Given the description of an element on the screen output the (x, y) to click on. 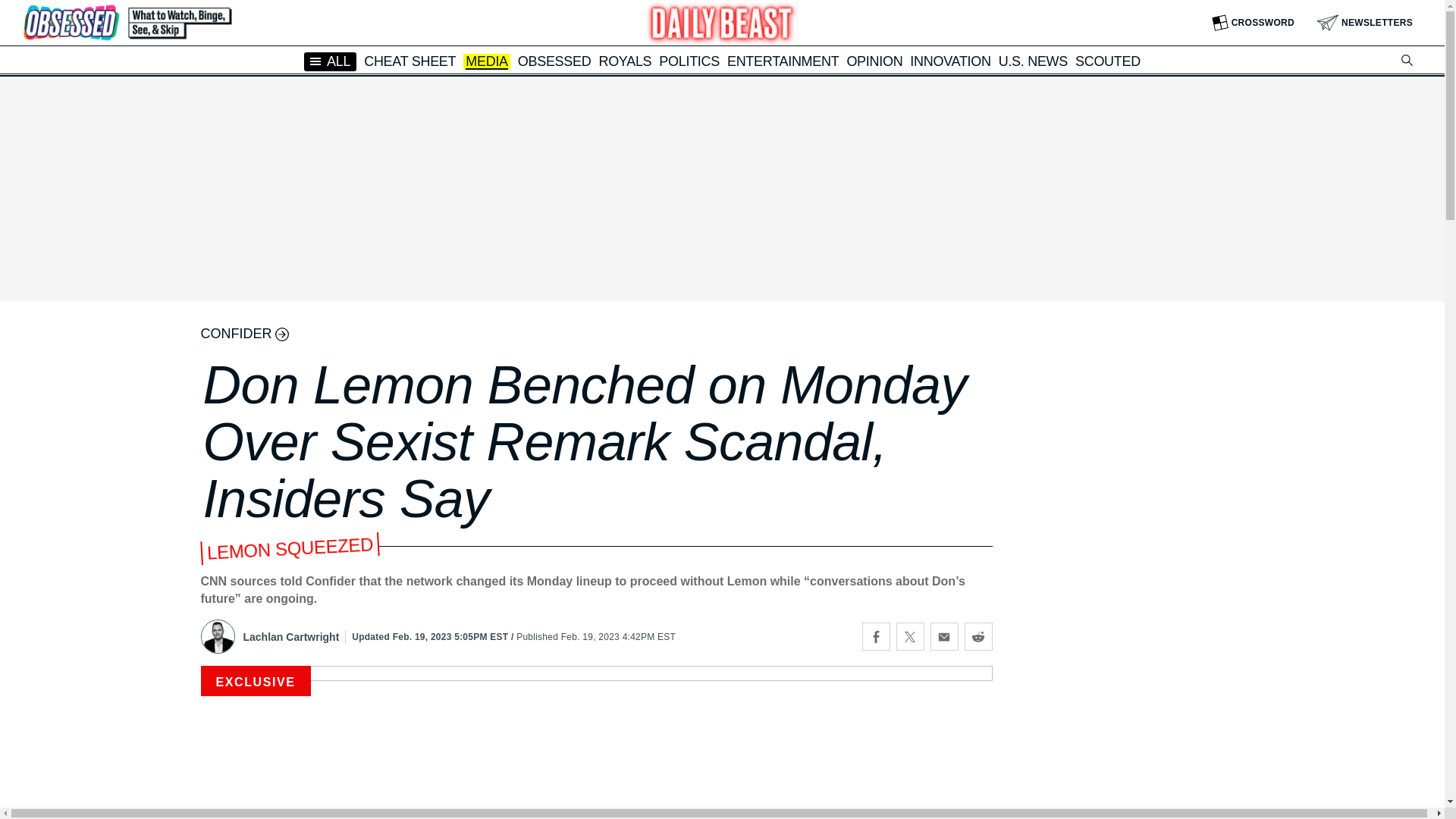
SCOUTED (1107, 60)
ENTERTAINMENT (782, 60)
CHEAT SHEET (409, 60)
CROSSWORD (1252, 22)
ALL (330, 60)
MEDIA (486, 61)
NEWSLETTERS (1364, 22)
ROYALS (624, 60)
U.S. NEWS (1032, 60)
POLITICS (689, 60)
